Given the description of an element on the screen output the (x, y) to click on. 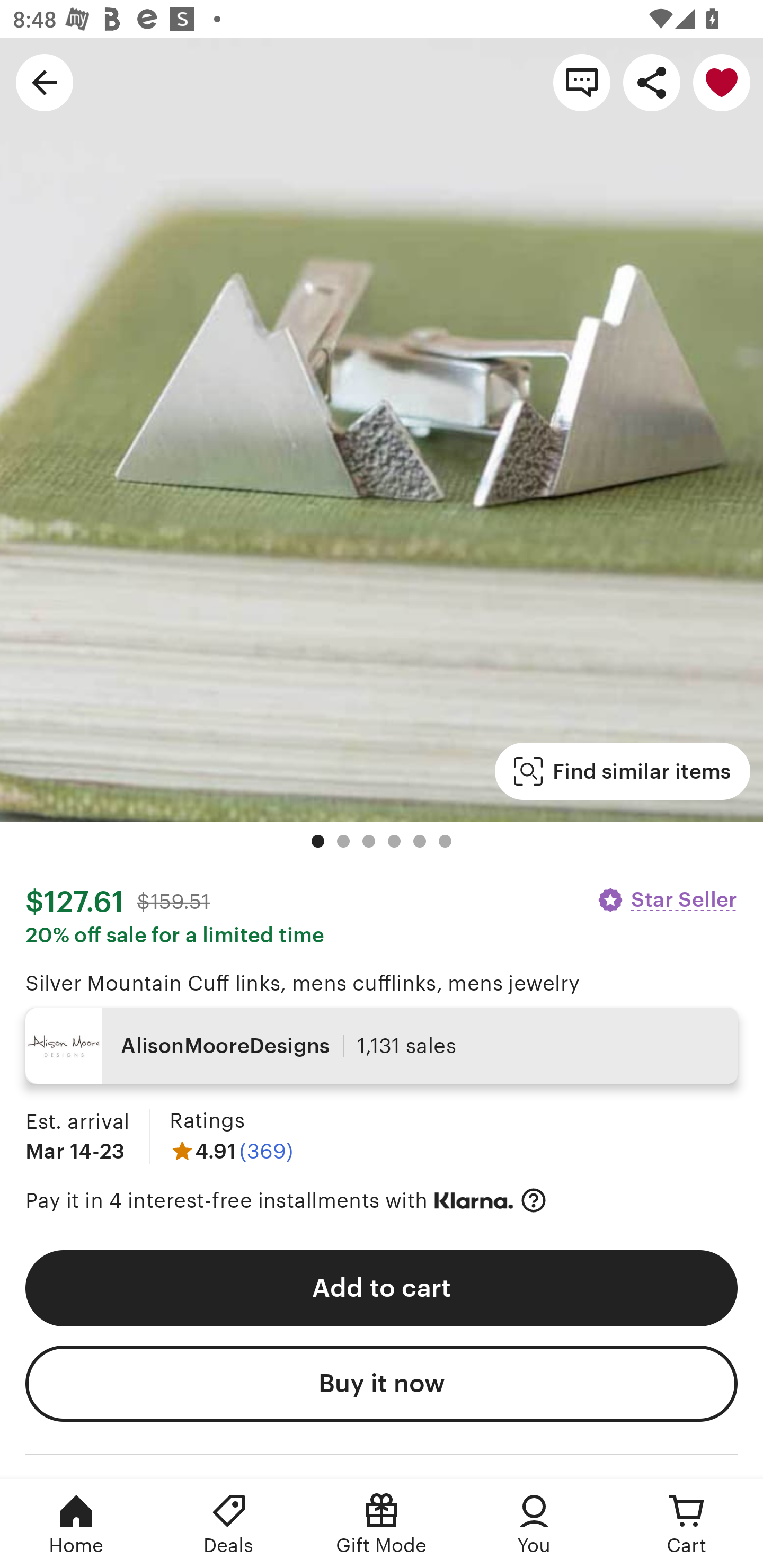
Navigate up (44, 81)
Contact shop (581, 81)
Share (651, 81)
Find similar items (622, 771)
Star Seller (666, 899)
AlisonMooreDesigns 1,131 sales (381, 1045)
Ratings (206, 1120)
4.91 (369) (231, 1150)
Add to cart (381, 1287)
Buy it now (381, 1383)
Deals (228, 1523)
Gift Mode (381, 1523)
You (533, 1523)
Cart (686, 1523)
